Given the description of an element on the screen output the (x, y) to click on. 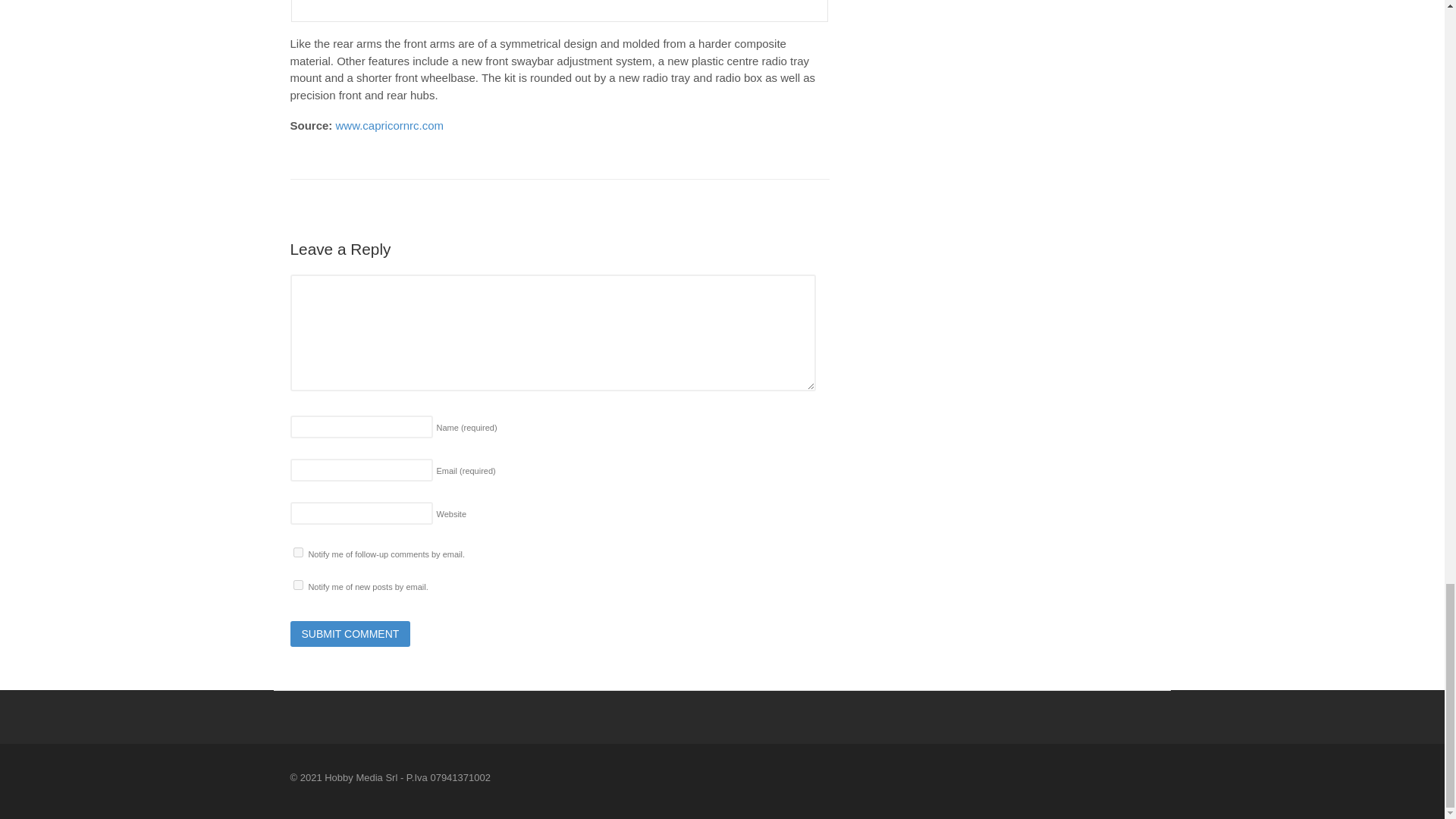
Submit Comment (349, 633)
subscribe (297, 584)
www.capricornrc.com (390, 124)
Submit Comment (349, 633)
subscribe (297, 552)
